Given the description of an element on the screen output the (x, y) to click on. 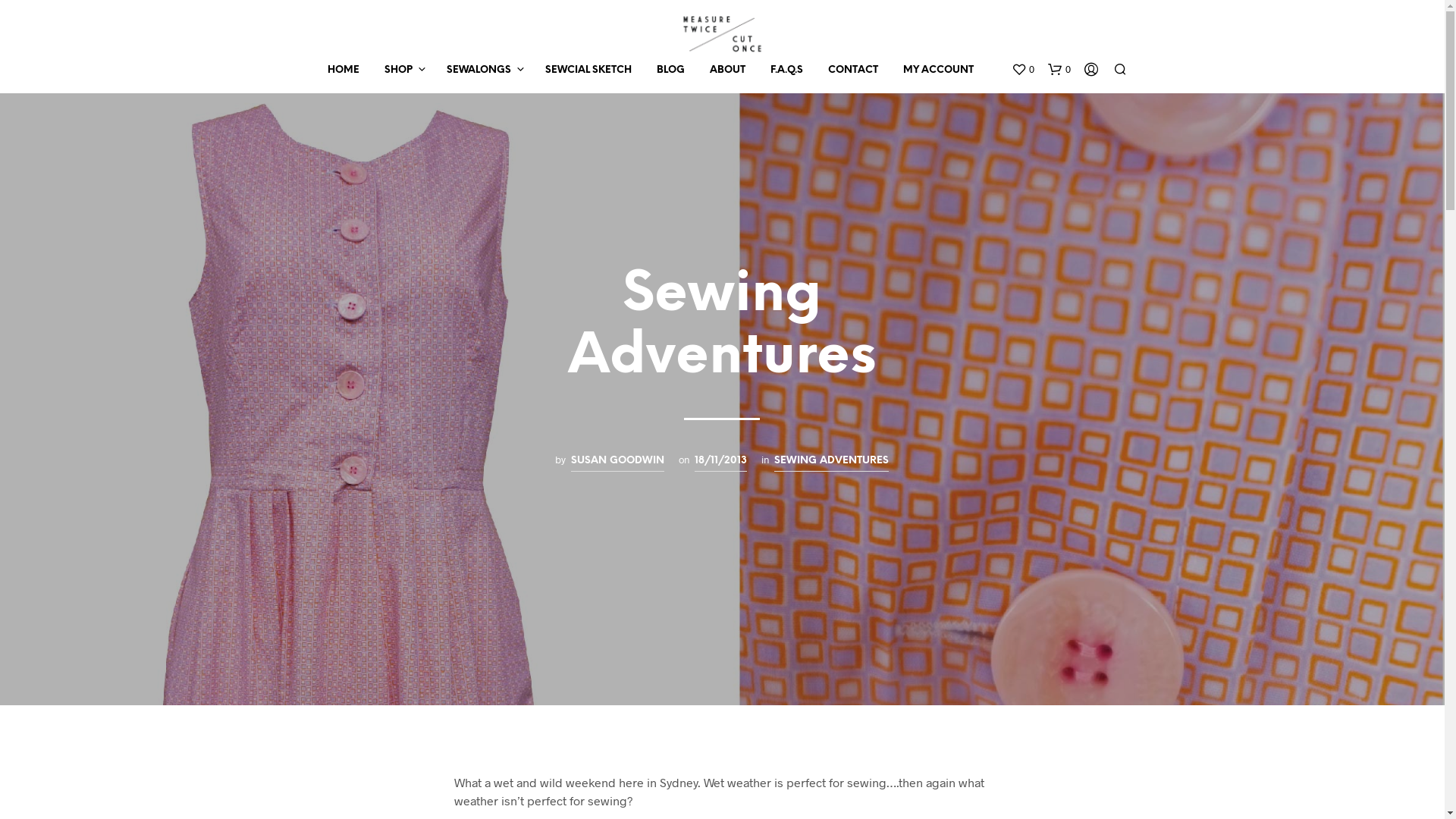
BLOG Element type: text (670, 70)
ABOUT Element type: text (727, 70)
SEWING ADVENTURES Element type: text (831, 462)
18/11/2013 Element type: text (720, 462)
0 Element type: text (1022, 69)
0 Element type: text (1059, 69)
MY ACCOUNT Element type: text (938, 70)
SUSAN GOODWIN Element type: text (617, 462)
SHOP Element type: text (398, 70)
HOME Element type: text (343, 70)
SEWCIAL SKETCH Element type: text (588, 70)
CONTACT Element type: text (852, 70)
F.A.Q.S Element type: text (786, 70)
SEWALONGS Element type: text (478, 70)
